Given the description of an element on the screen output the (x, y) to click on. 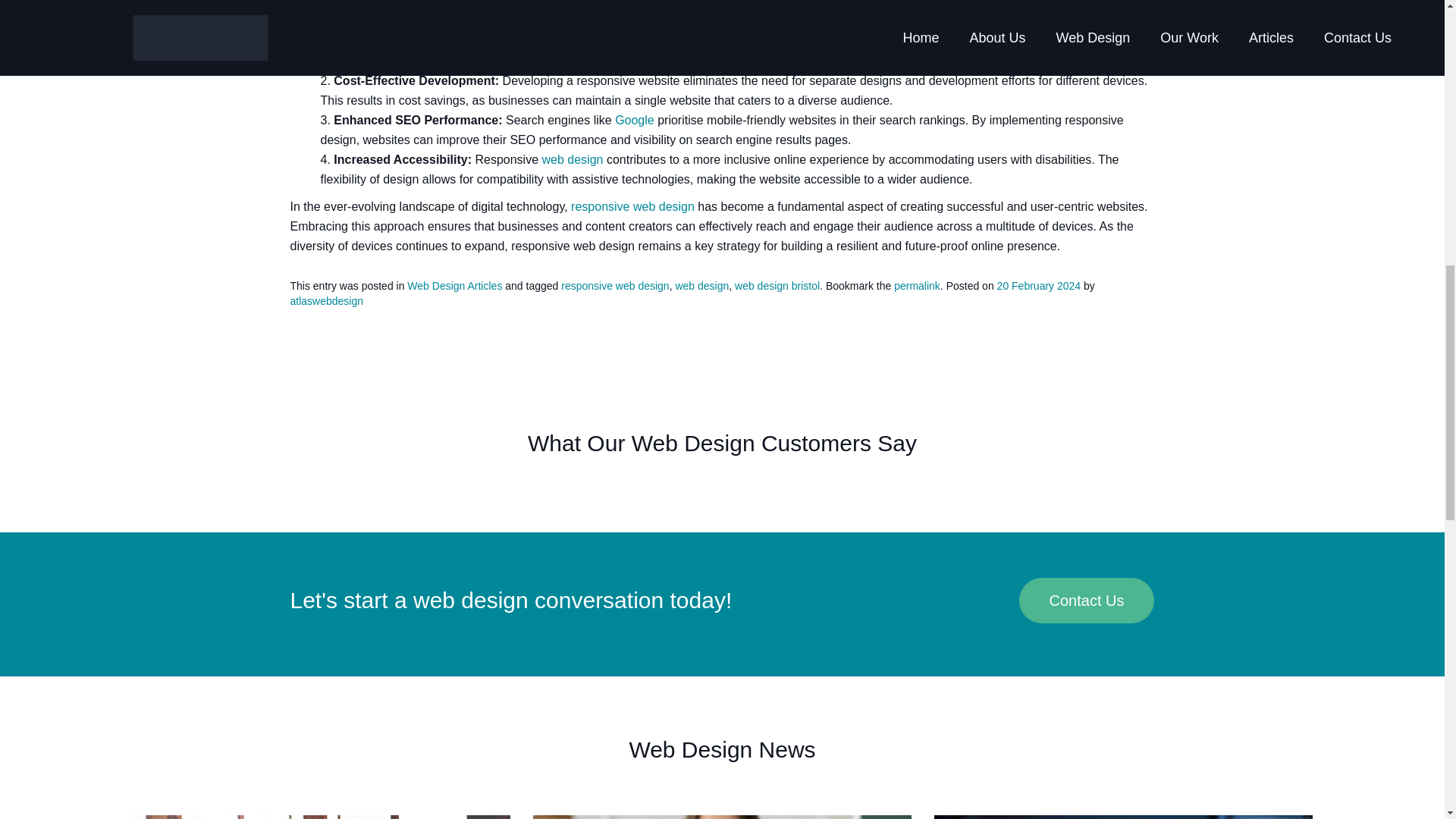
web design (702, 285)
responsive web design (614, 285)
web design bristol (777, 285)
20 February 2024 (1039, 285)
responsive web design (632, 205)
11:05 am (1039, 285)
web design (572, 159)
Contact Us (1086, 600)
atlaswebdesign (325, 300)
Web Design Articles (454, 285)
Google (633, 119)
permalink (916, 285)
View all posts by atlaswebdesign (325, 300)
Permalink to The Importance of Responsive Web Design (916, 285)
